Given the description of an element on the screen output the (x, y) to click on. 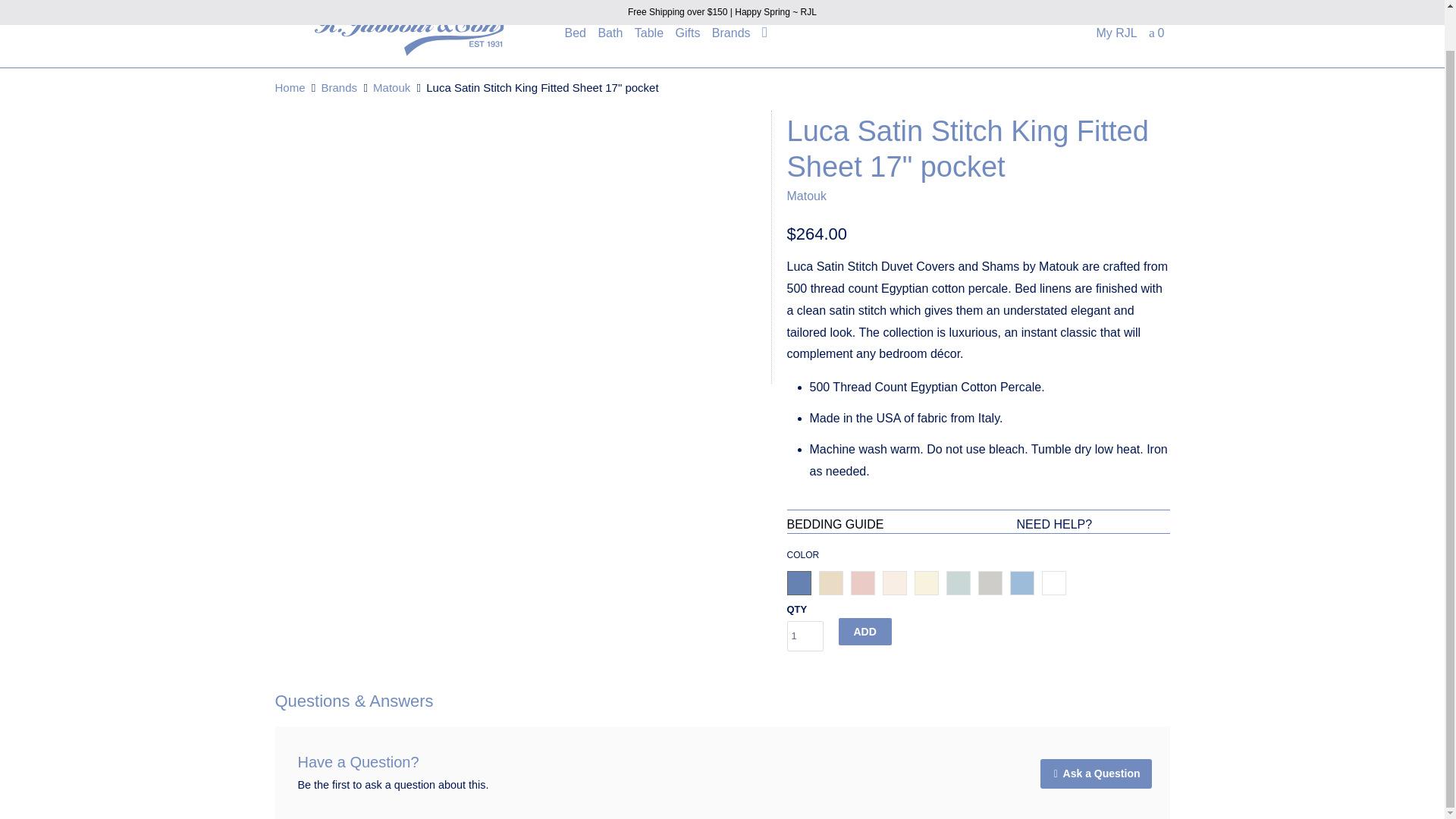
1 (805, 635)
Matouk (807, 195)
brands (339, 87)
Jabbour Linens (289, 87)
My RJL  (1116, 36)
Jabbour Linens (409, 35)
Matouk (391, 87)
